Given the description of an element on the screen output the (x, y) to click on. 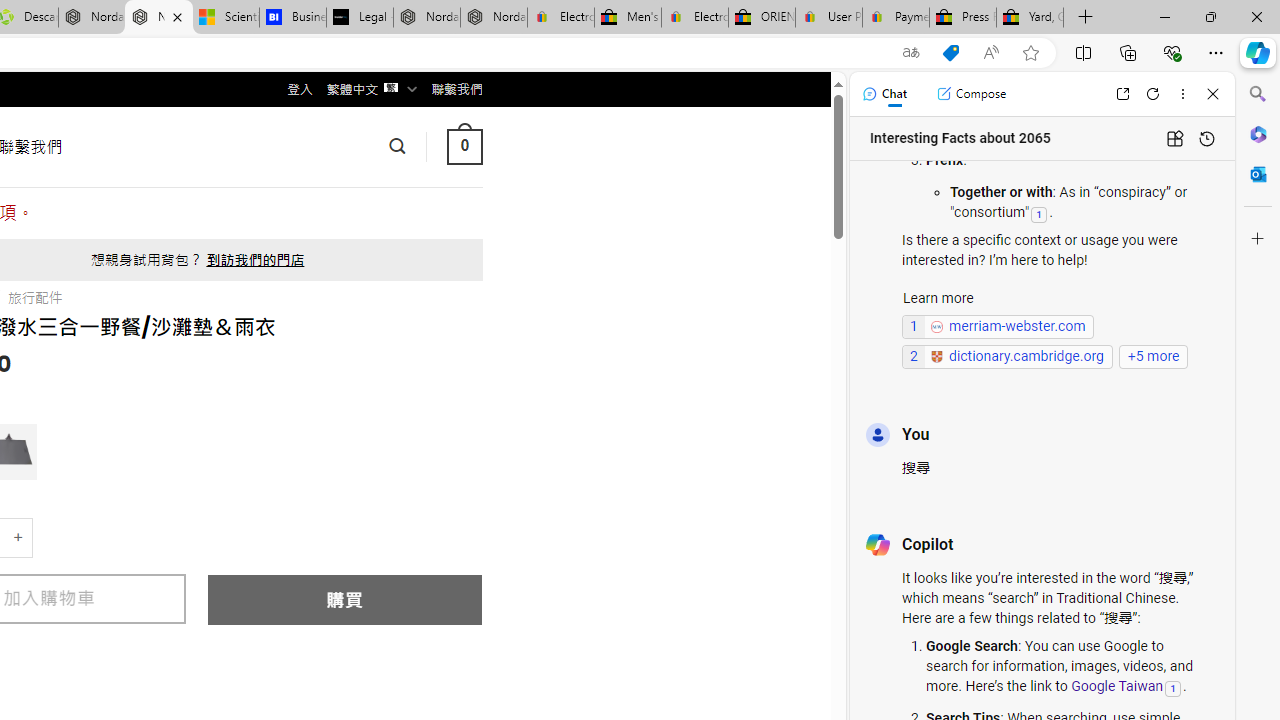
 0  (464, 146)
